Given the description of an element on the screen output the (x, y) to click on. 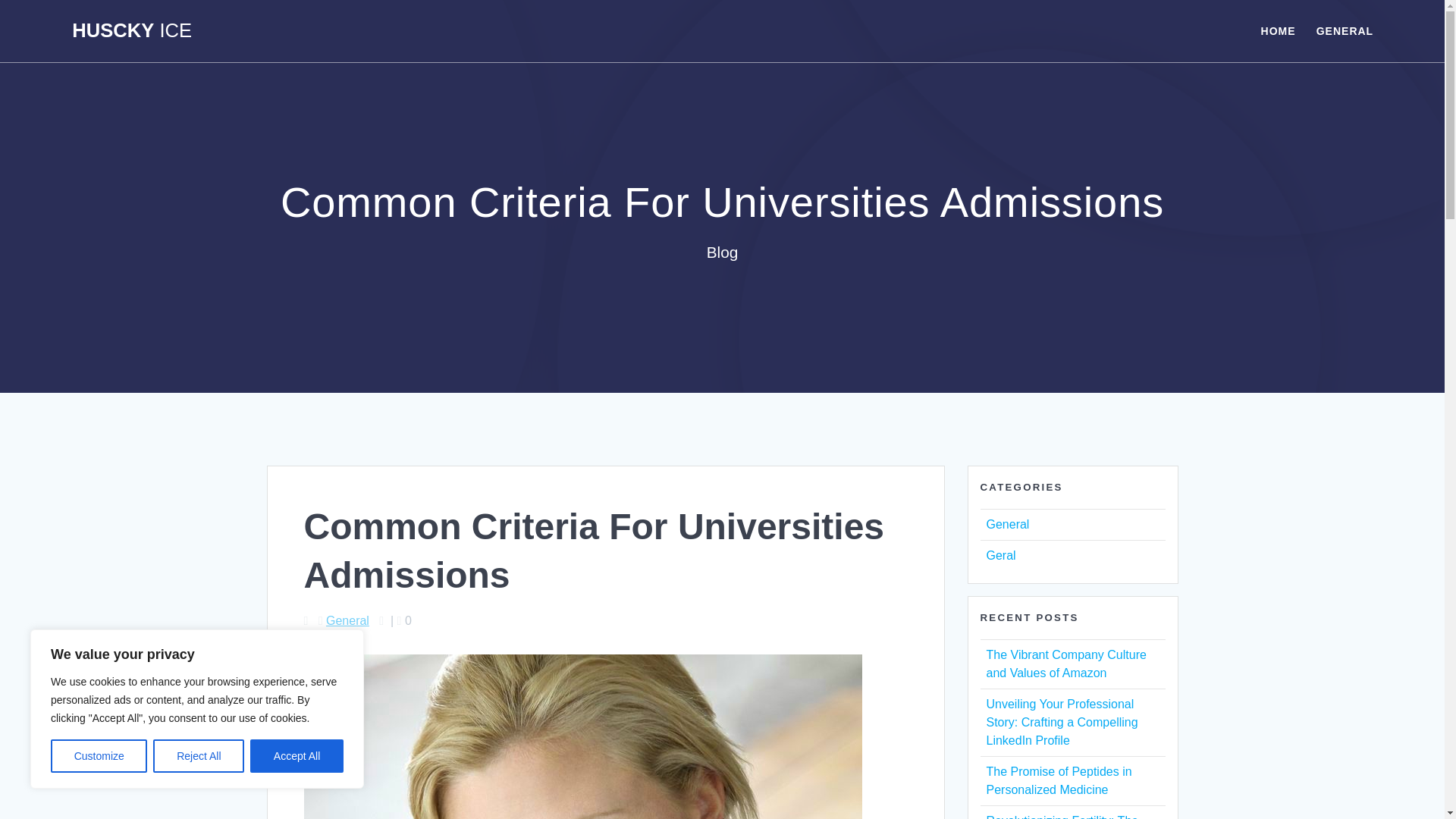
General (1007, 523)
Reject All (198, 756)
The Promise of Peptides in Personalized Medicine (1058, 780)
Geral (999, 554)
Accept All (296, 756)
General (347, 620)
The Vibrant Company Culture and Values of Amazon (1065, 663)
HUSCKY ICE (131, 30)
GENERAL (1344, 30)
Revolutionizing Fertility: The Power of Exercise (1061, 816)
